Given the description of an element on the screen output the (x, y) to click on. 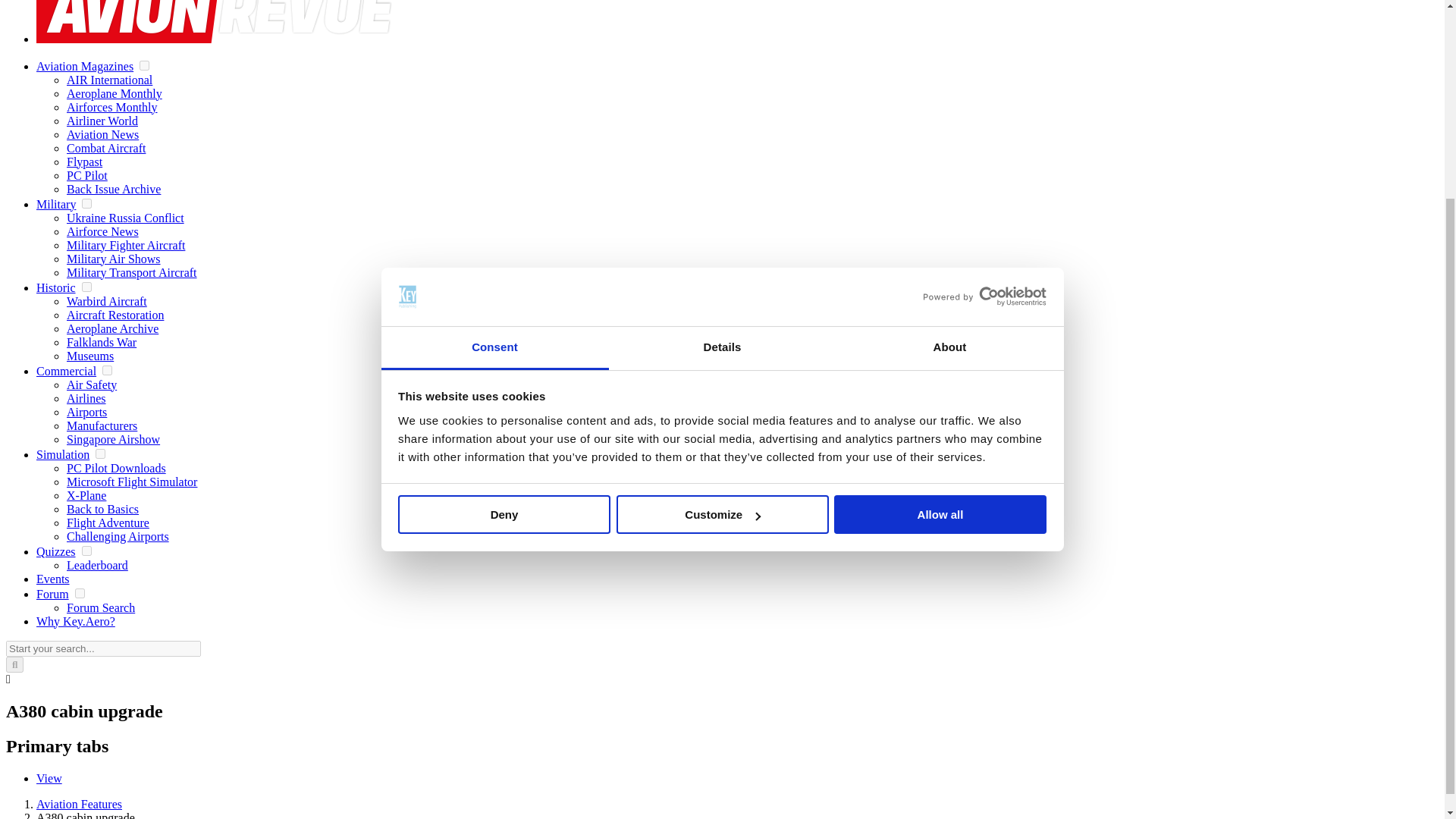
on (106, 370)
on (86, 203)
on (79, 593)
Details (721, 90)
on (100, 453)
on (86, 286)
Consent (494, 90)
on (144, 65)
on (86, 551)
About (948, 90)
